Given the description of an element on the screen output the (x, y) to click on. 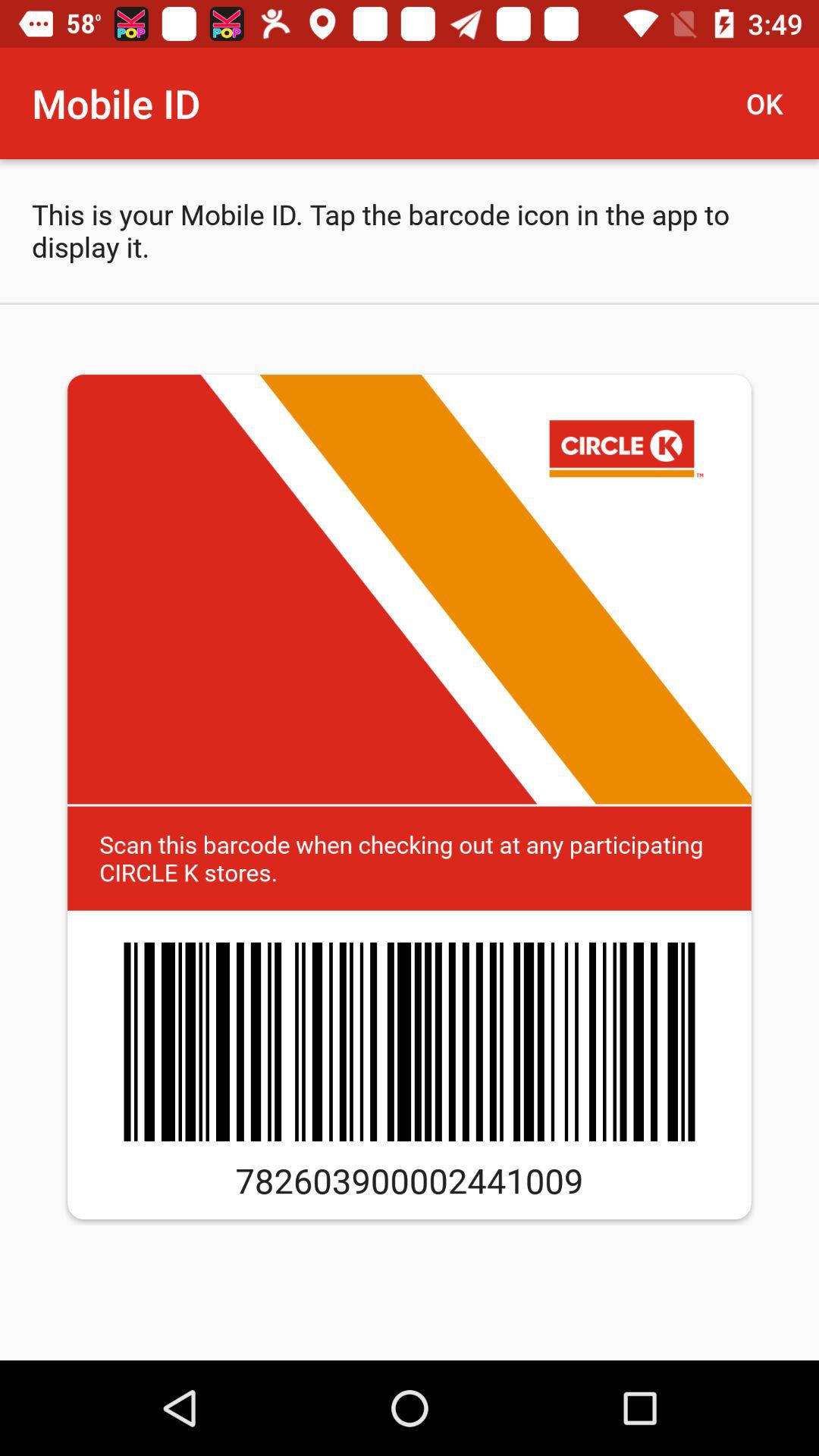
launch the item above the this is your (771, 103)
